Given the description of an element on the screen output the (x, y) to click on. 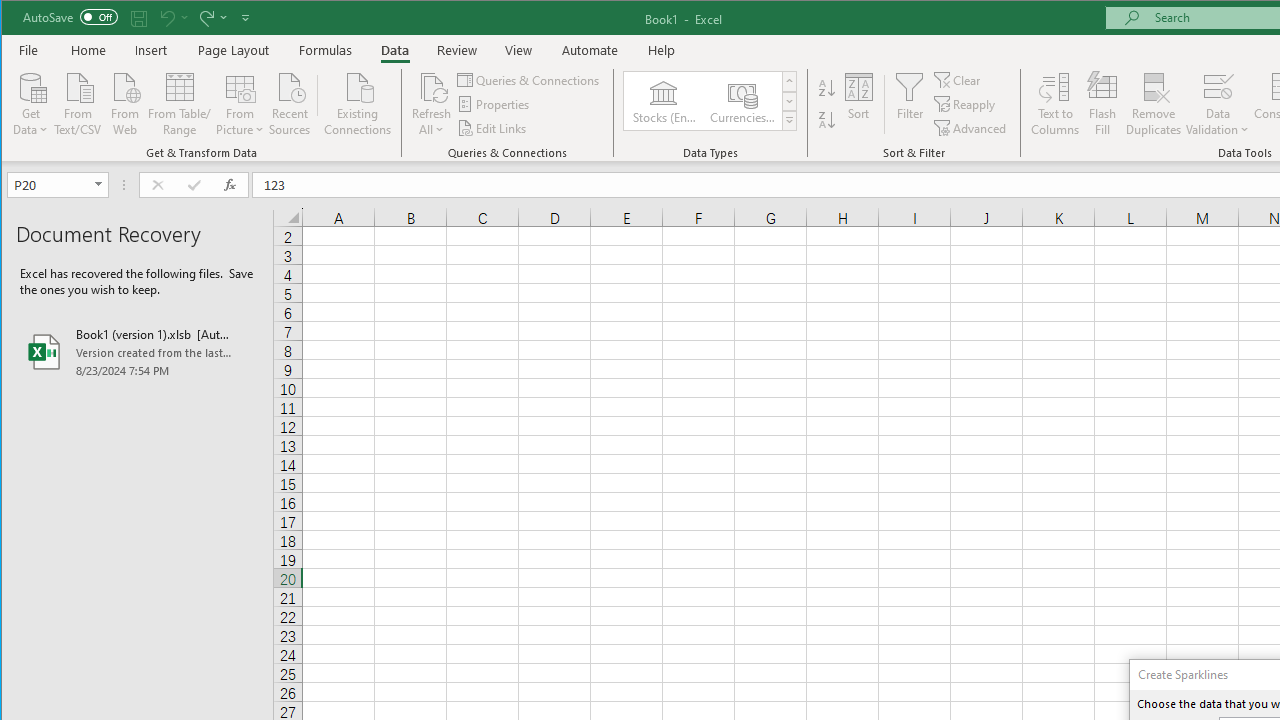
More Options (1217, 123)
From Picture (240, 101)
Save (139, 17)
From Web (124, 101)
AutoSave (70, 16)
Redo (211, 17)
Properties (495, 103)
Advanced... (971, 127)
Name Box (57, 184)
Book1 (version 1).xlsb  [AutoRecovered] (137, 352)
Text to Columns... (1055, 104)
From Table/Range (179, 101)
Insert (151, 50)
Sort... (859, 104)
Stocks (English) (663, 100)
